Given the description of an element on the screen output the (x, y) to click on. 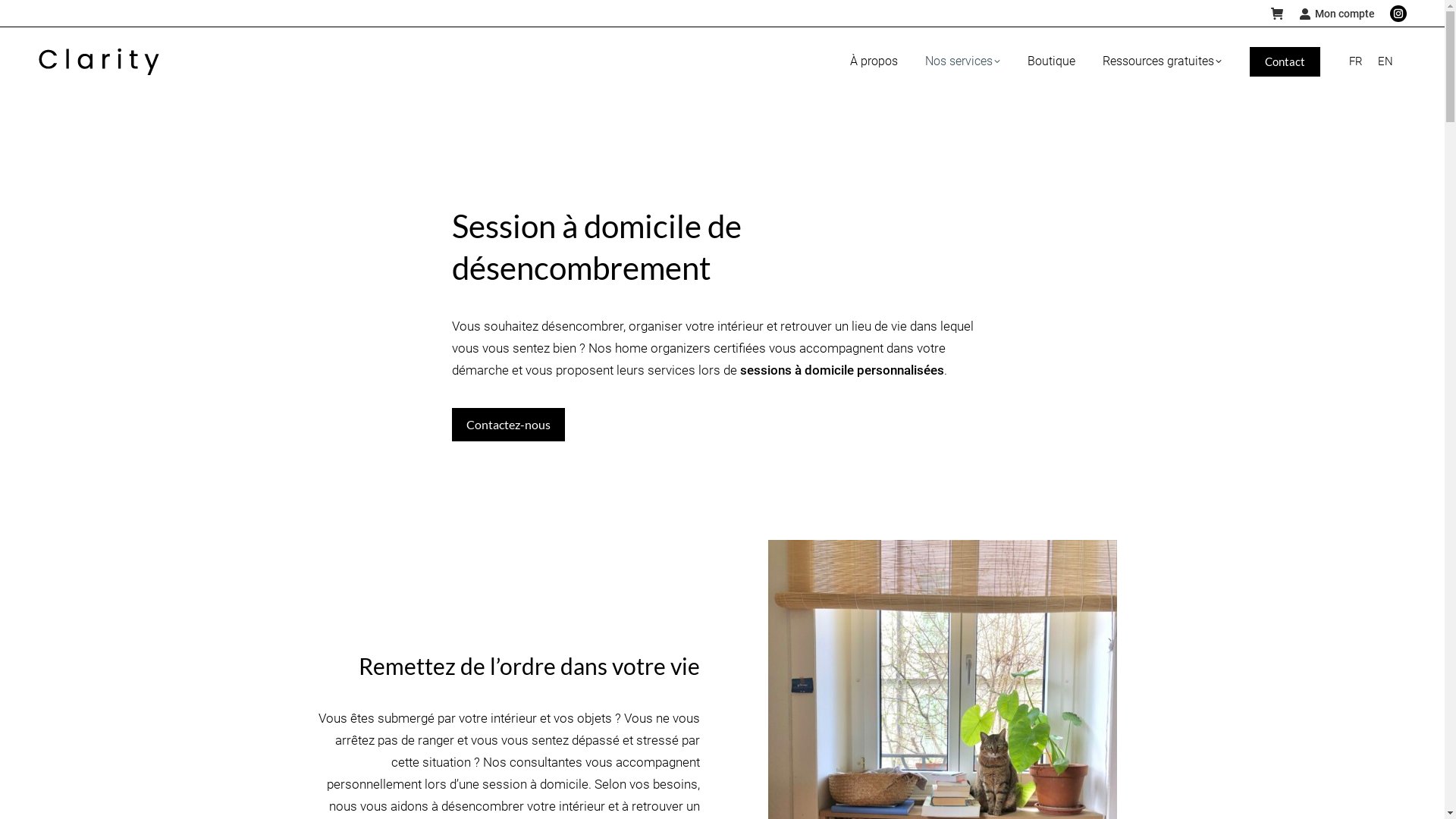
Boutique Element type: text (1051, 60)
Mon compte Element type: text (1336, 13)
Ressources gratuites Element type: text (1161, 60)
Contactez-nous Element type: text (507, 424)
FR Element type: text (1355, 61)
Contact Element type: text (1284, 61)
EN Element type: text (1385, 61)
  Element type: text (1276, 13)
Nos services Element type: text (962, 60)
